Given the description of an element on the screen output the (x, y) to click on. 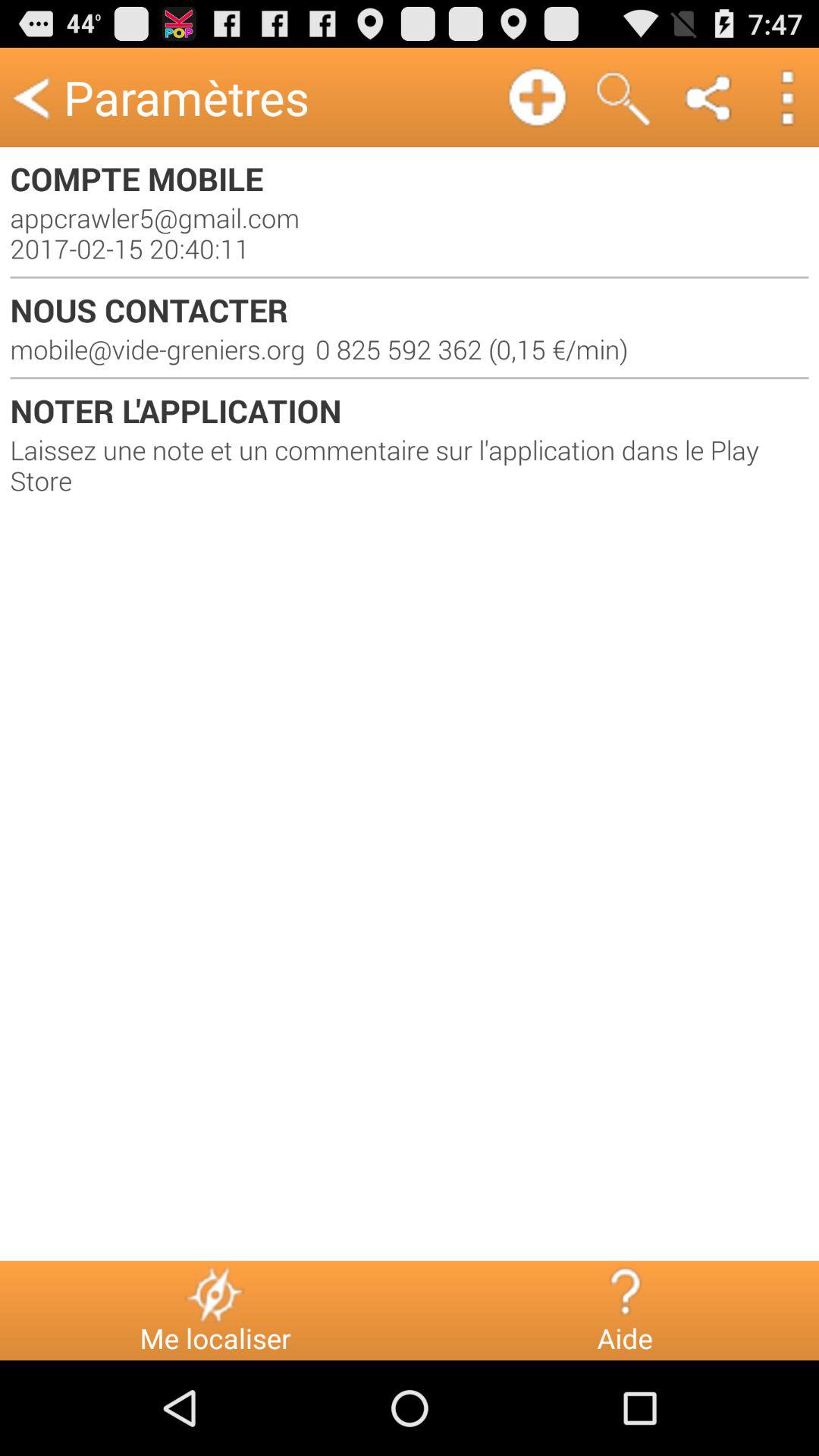
press the icon to the right of the me localiser (624, 1293)
